Given the description of an element on the screen output the (x, y) to click on. 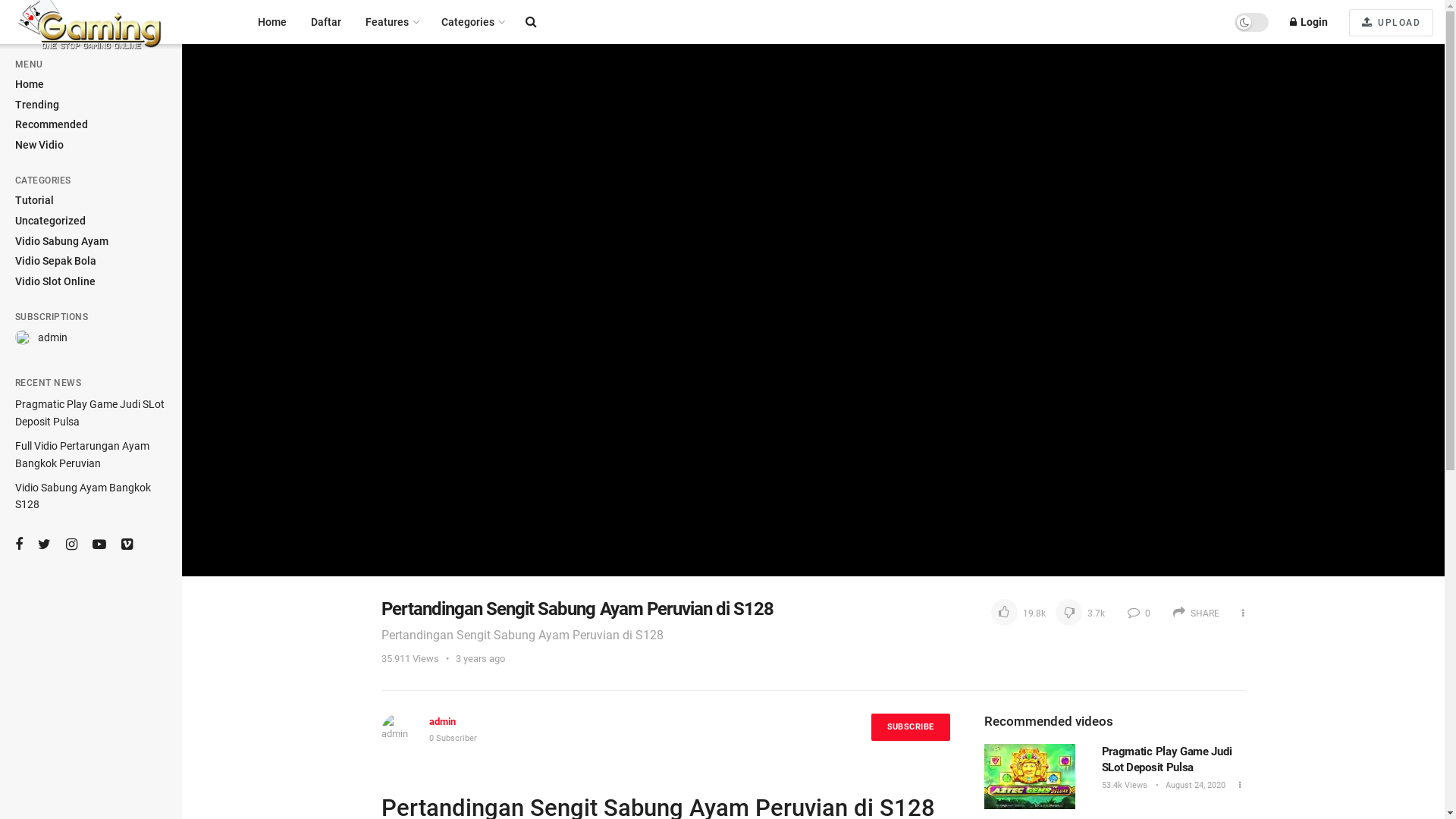
Vidio Sepak Bola Element type: text (55, 261)
Vidio Sabung Ayam Bangkok S128 Element type: text (82, 495)
Pragmatic Play Game Judi SLot Deposit Pulsa Element type: text (1166, 759)
Features Element type: text (391, 21)
Full Vidio Pertarungan Ayam Bangkok Peruvian Element type: text (82, 453)
Vidio Sabung Ayam Element type: text (61, 241)
Trending Element type: text (37, 104)
Login Element type: text (1308, 21)
Daftar Element type: text (325, 21)
19.8k Element type: text (1018, 613)
SUBSCRIBE Element type: text (910, 726)
UPLOAD Element type: text (1391, 22)
3.7k Element type: text (1076, 613)
admin Element type: text (442, 721)
SHARE Element type: text (1195, 613)
New Vidio Element type: text (39, 145)
3 years ago Element type: text (479, 658)
53.4k Views Element type: text (1123, 785)
Vidio Slot Online Element type: text (55, 281)
0 Element type: text (1137, 613)
Tutorial Element type: text (34, 200)
Uncategorized Element type: text (50, 221)
Categories Element type: text (471, 21)
Pragmatic Play Game Judi SLot Deposit Pulsa Element type: text (89, 412)
August 24, 2020 Element type: text (1194, 785)
Home Element type: text (271, 21)
Home Element type: text (29, 84)
Recommended Element type: text (51, 124)
admin Element type: text (52, 337)
